Given the description of an element on the screen output the (x, y) to click on. 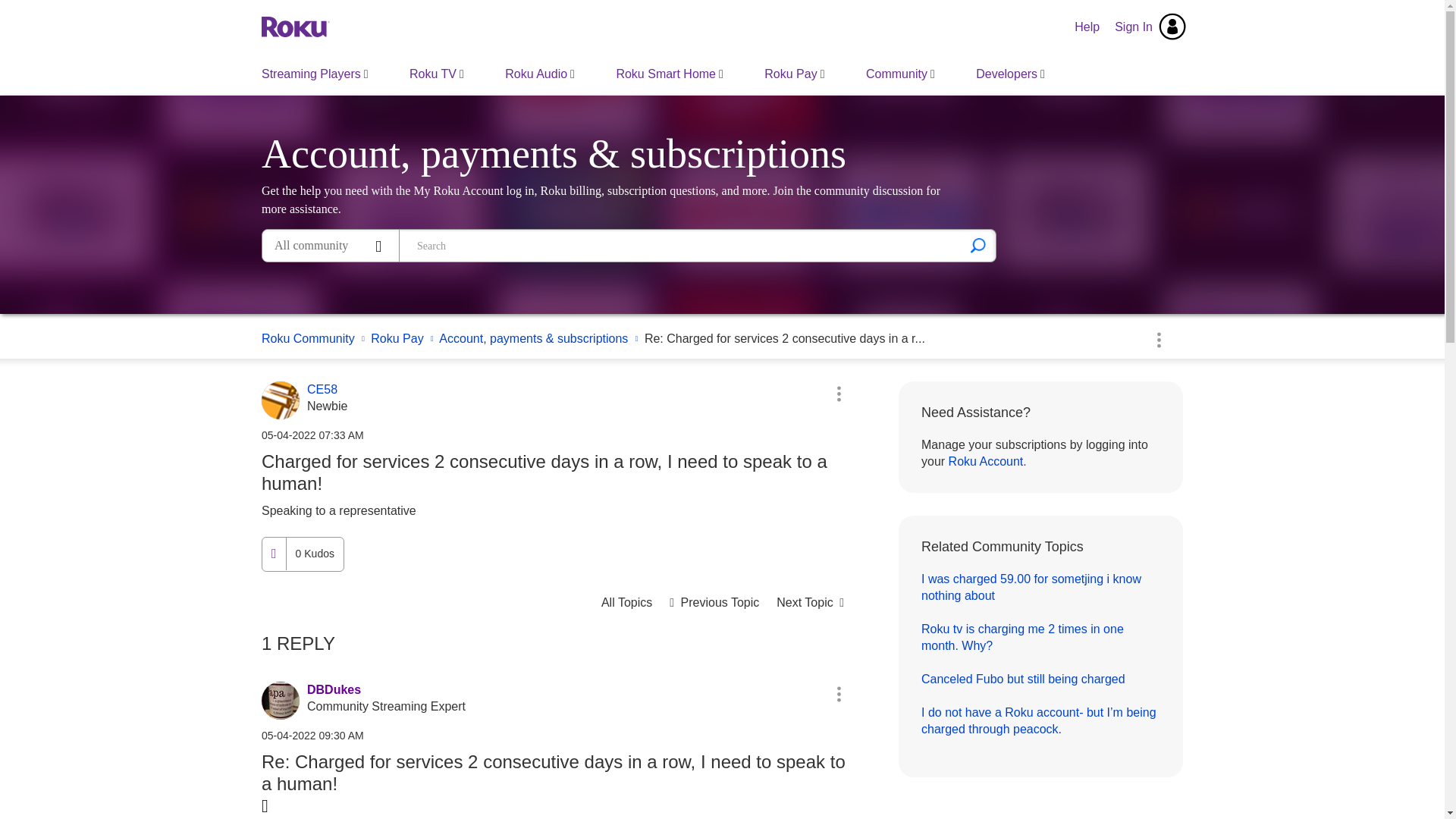
The total number of kudos this post has received. (314, 553)
Don't see my Disney account (714, 602)
Roku Smart Home (668, 73)
Search (680, 245)
Streaming Players (315, 73)
Search (977, 245)
Posted on (557, 434)
Show option menu (839, 393)
Roku Pay (794, 73)
Search (977, 245)
Search Granularity (330, 245)
Search (977, 245)
Show option menu (1158, 339)
Roku Audio (540, 73)
Developers (1010, 73)
